Given the description of an element on the screen output the (x, y) to click on. 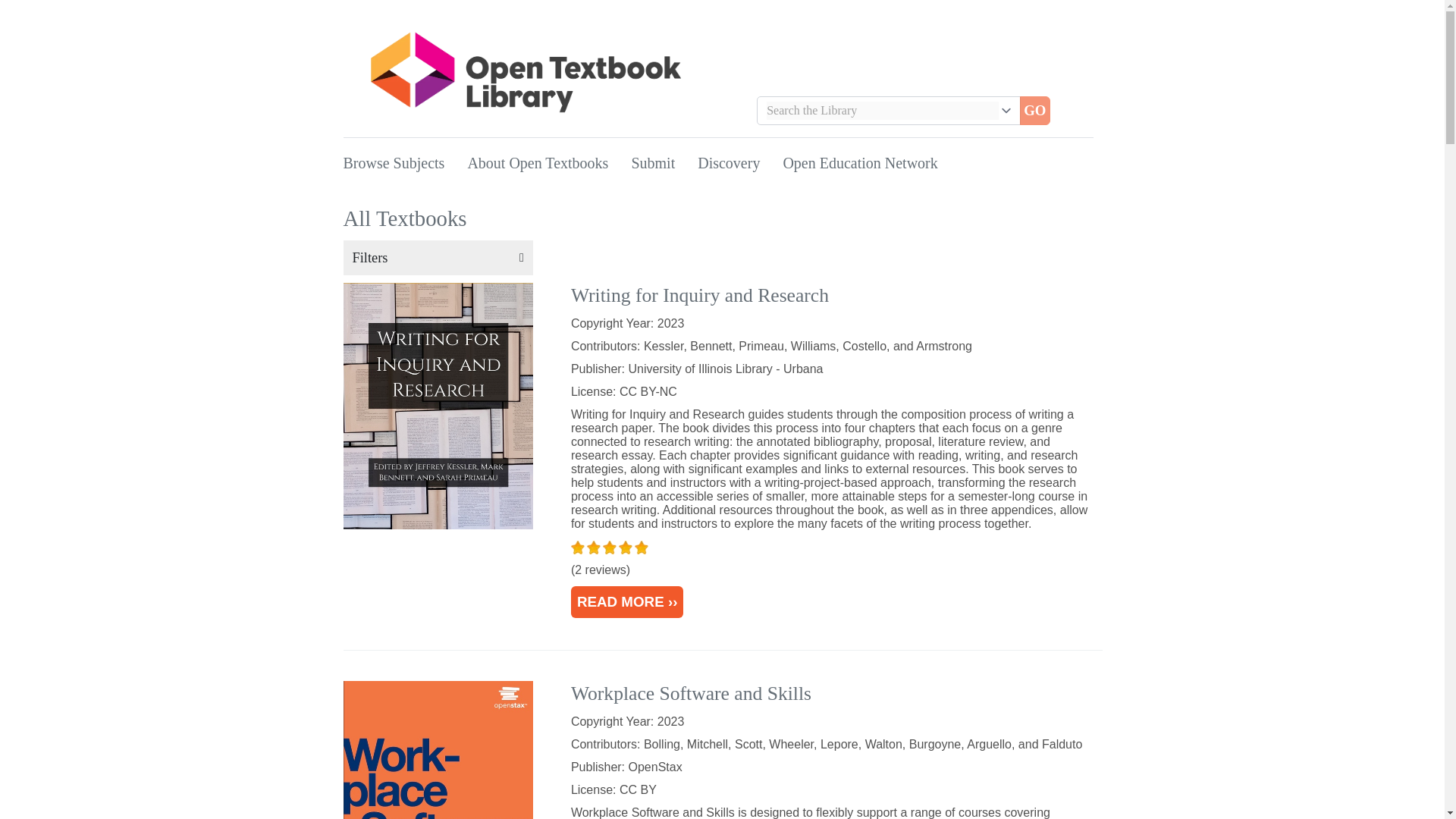
Workplace Software and Skills (690, 693)
Go (1034, 110)
Open Textbook Library logo (525, 72)
Discovery (728, 162)
Browse Subjects (393, 162)
whole star (578, 547)
Open Education Network (860, 162)
whole star (594, 547)
Writing for Inquiry and Research (699, 295)
READ MORE (627, 602)
